Given the description of an element on the screen output the (x, y) to click on. 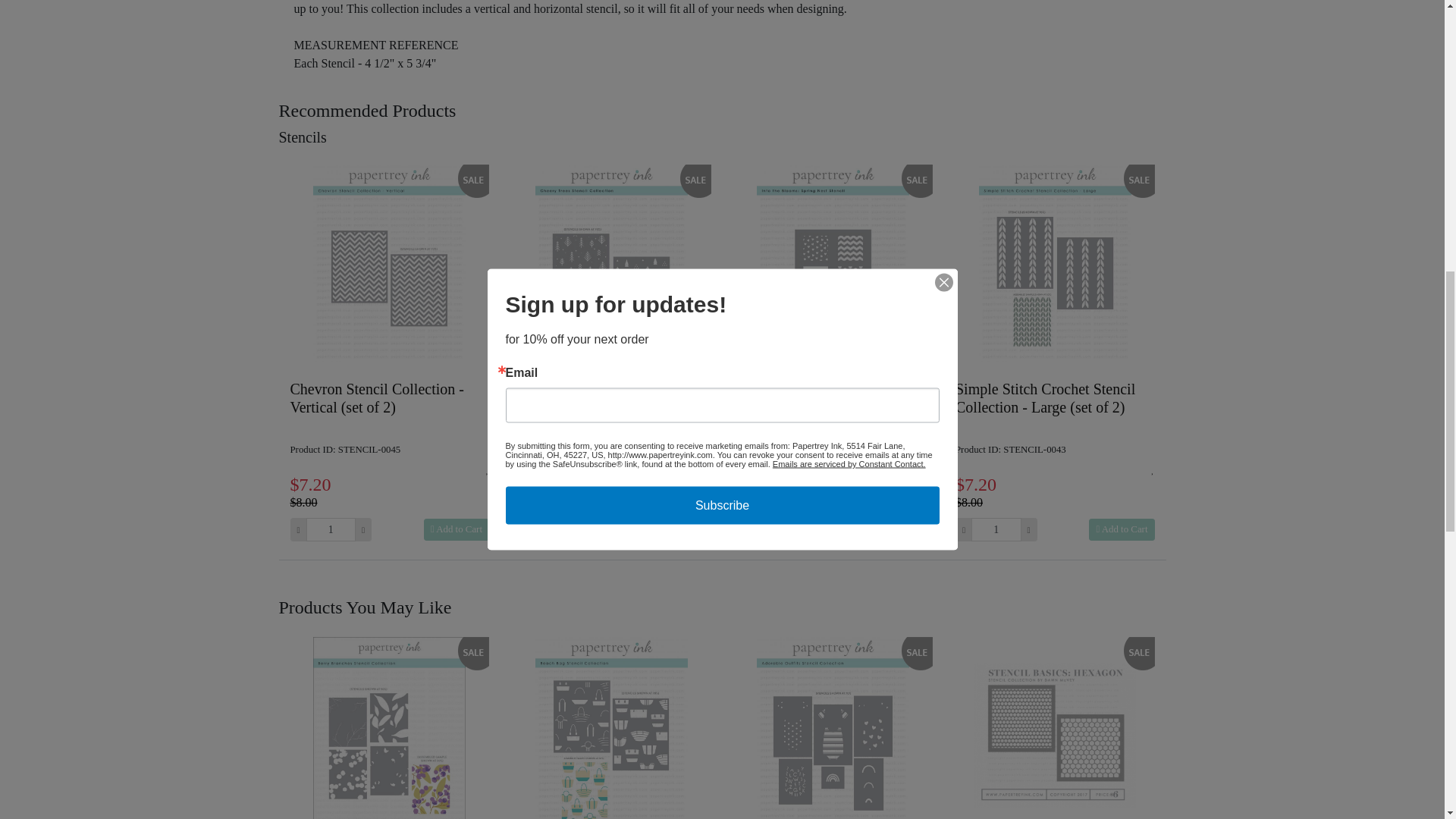
1 (330, 529)
1 (551, 529)
1 (995, 529)
1 (774, 529)
